Given the description of an element on the screen output the (x, y) to click on. 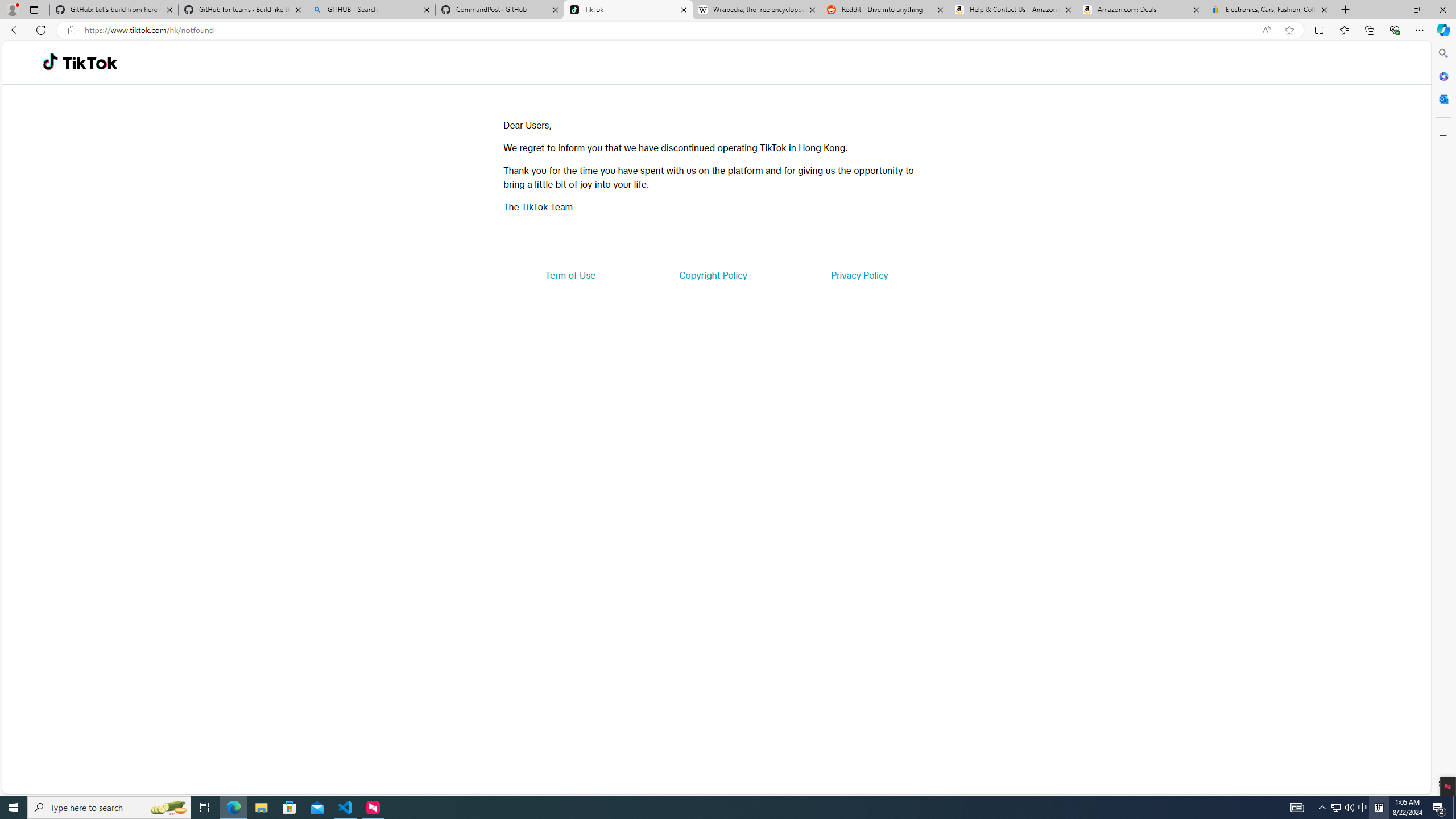
Wikipedia, the free encyclopedia (756, 9)
Copyright Policy (712, 274)
GITHUB - Search (370, 9)
Privacy Policy (858, 274)
Term of Use (569, 274)
